Given the description of an element on the screen output the (x, y) to click on. 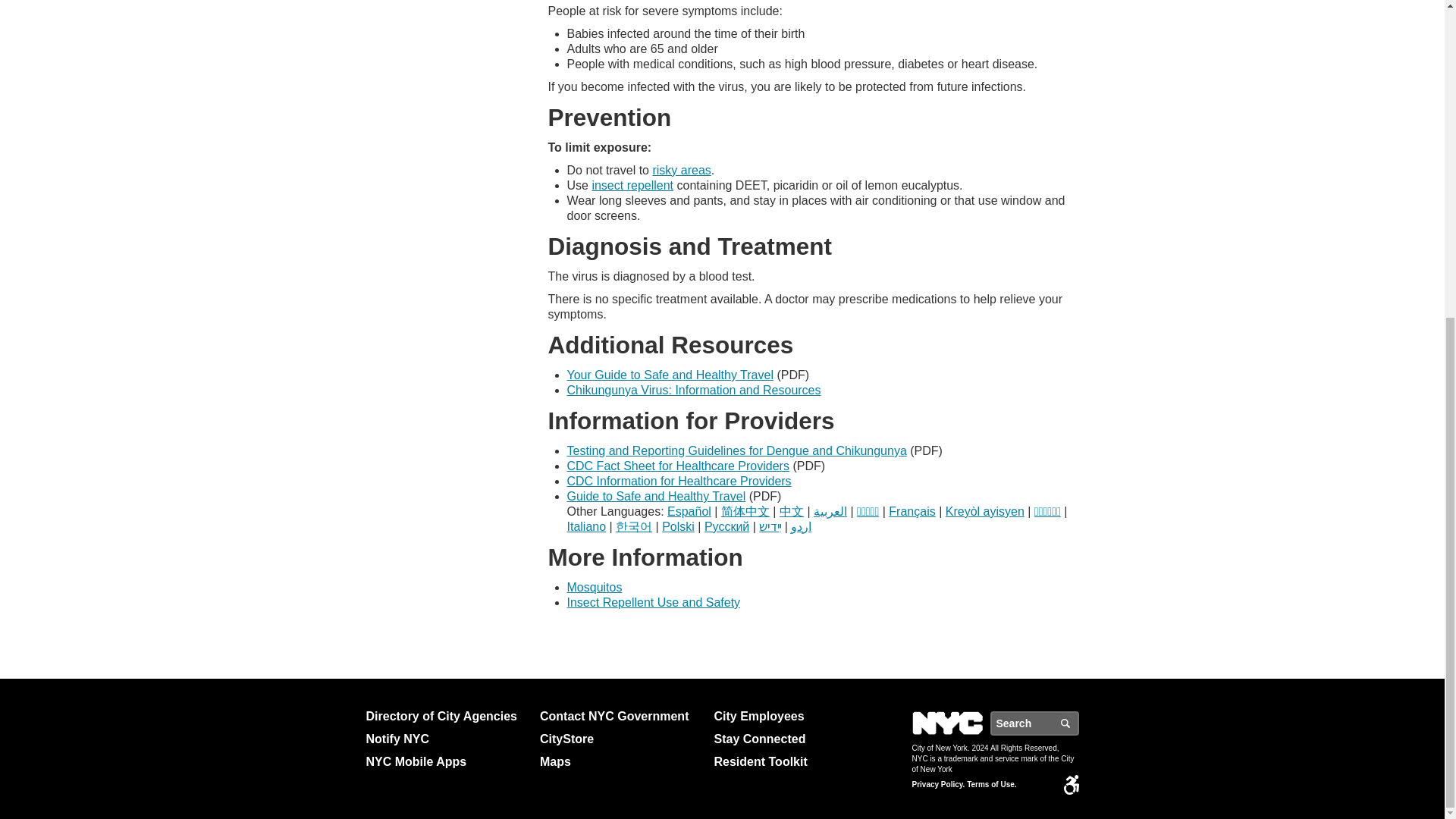
Terms of Use (991, 784)
Testing and Reporting Guidelines for Dengue and Chikungunya (737, 450)
Chikungunya Virus: Information and Resources (694, 390)
Privacy Ploicy  (937, 784)
Guide to Safe and Healthy Travel (656, 495)
CDC Information for Healthcare Providers (679, 481)
insect repellent (631, 185)
Your Guide to Safe and Healthy Travel (670, 374)
CDC Fact Sheet for Healthcare Providers (678, 465)
risky areas (681, 169)
